Given the description of an element on the screen output the (x, y) to click on. 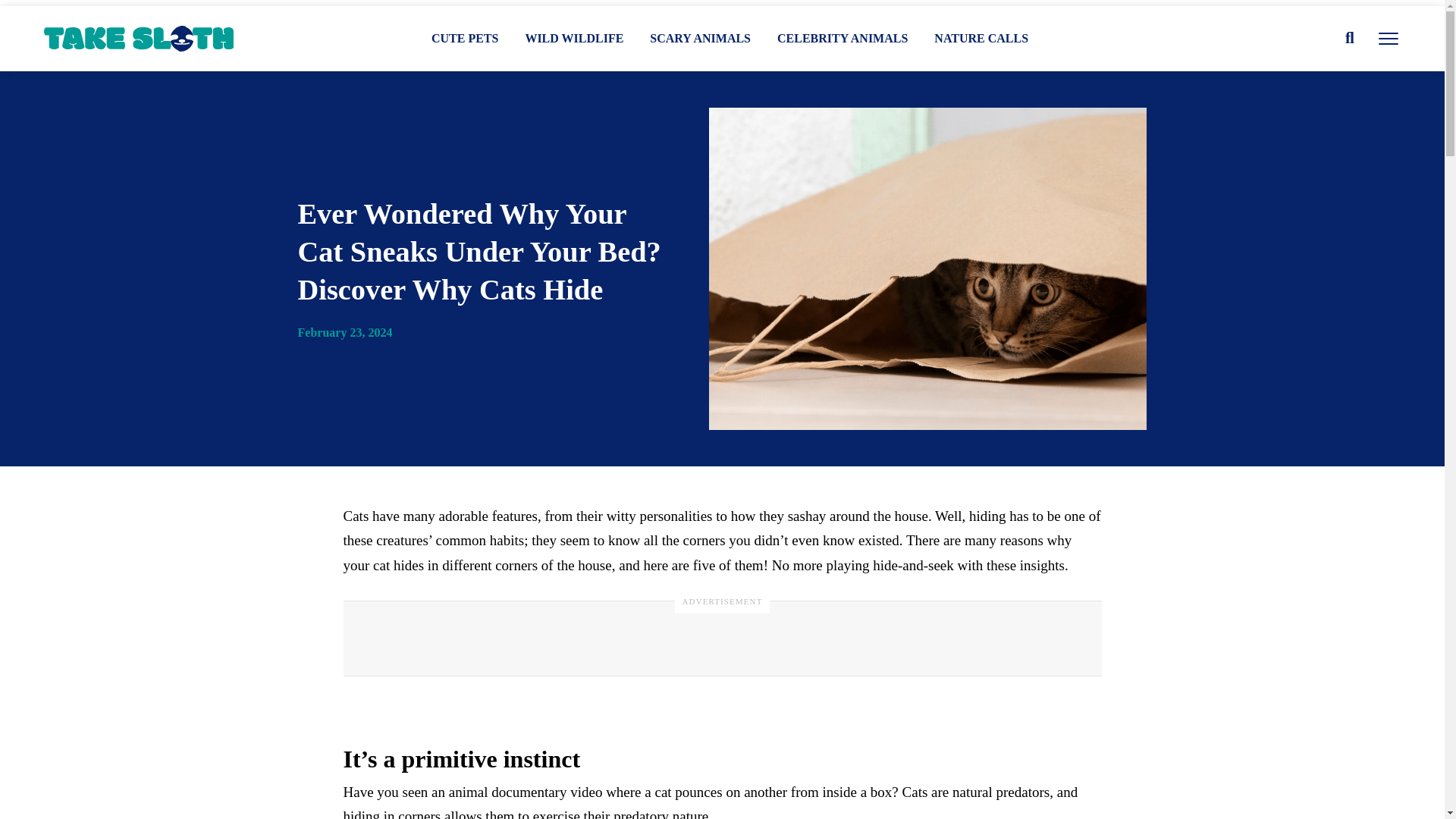
NATURE CALLS (980, 38)
WILD WILDLIFE (573, 38)
SCARY ANIMALS (700, 38)
CUTE PETS (463, 38)
February 23, 2024 (344, 332)
CELEBRITY ANIMALS (842, 38)
